Given the description of an element on the screen output the (x, y) to click on. 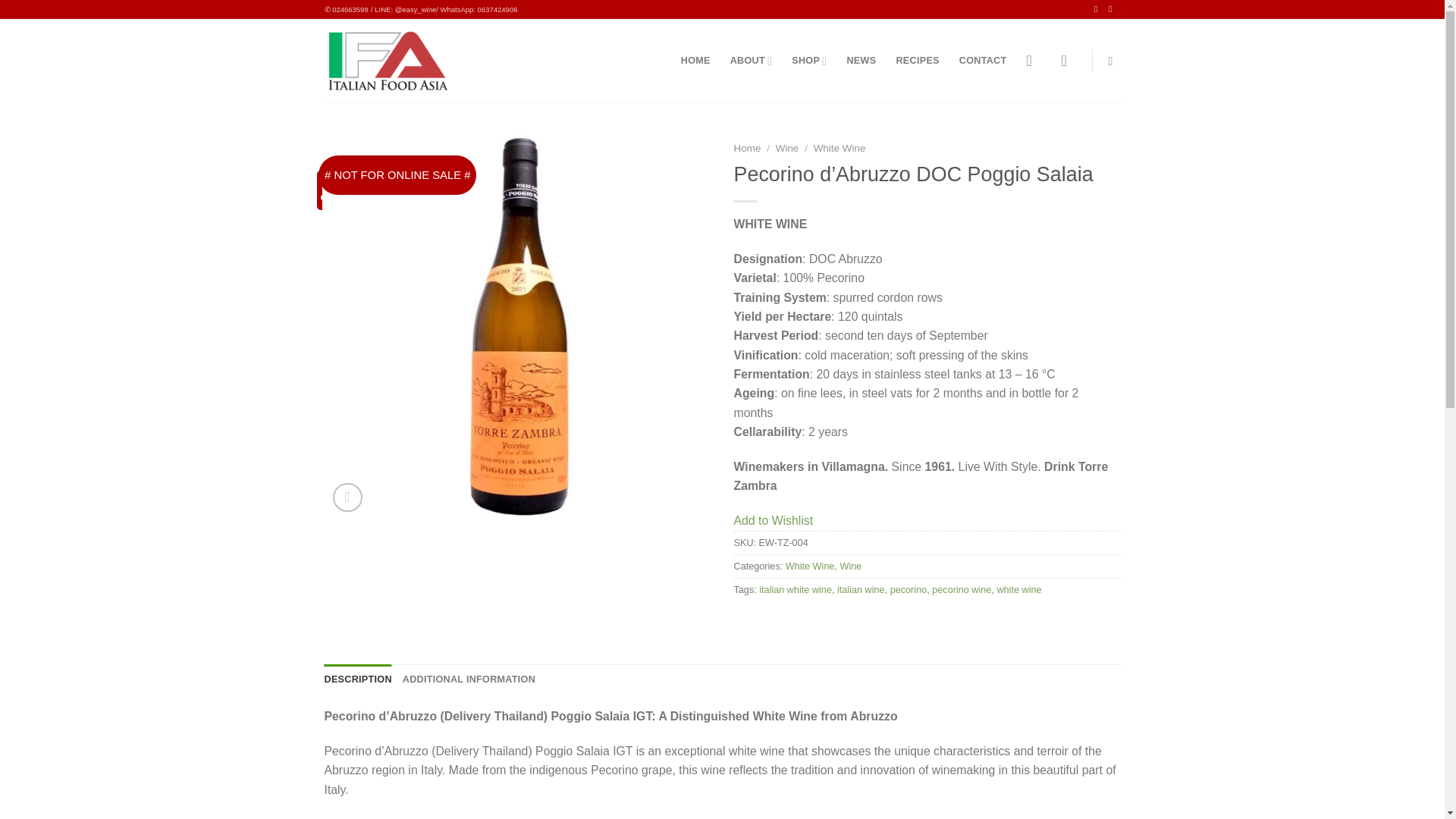
SHOP (809, 60)
CONTACT (983, 60)
Italian Food Asia - Italian food in Thailand (386, 60)
RECIPES (917, 60)
ABOUT (751, 60)
Zoom (347, 497)
